Given the description of an element on the screen output the (x, y) to click on. 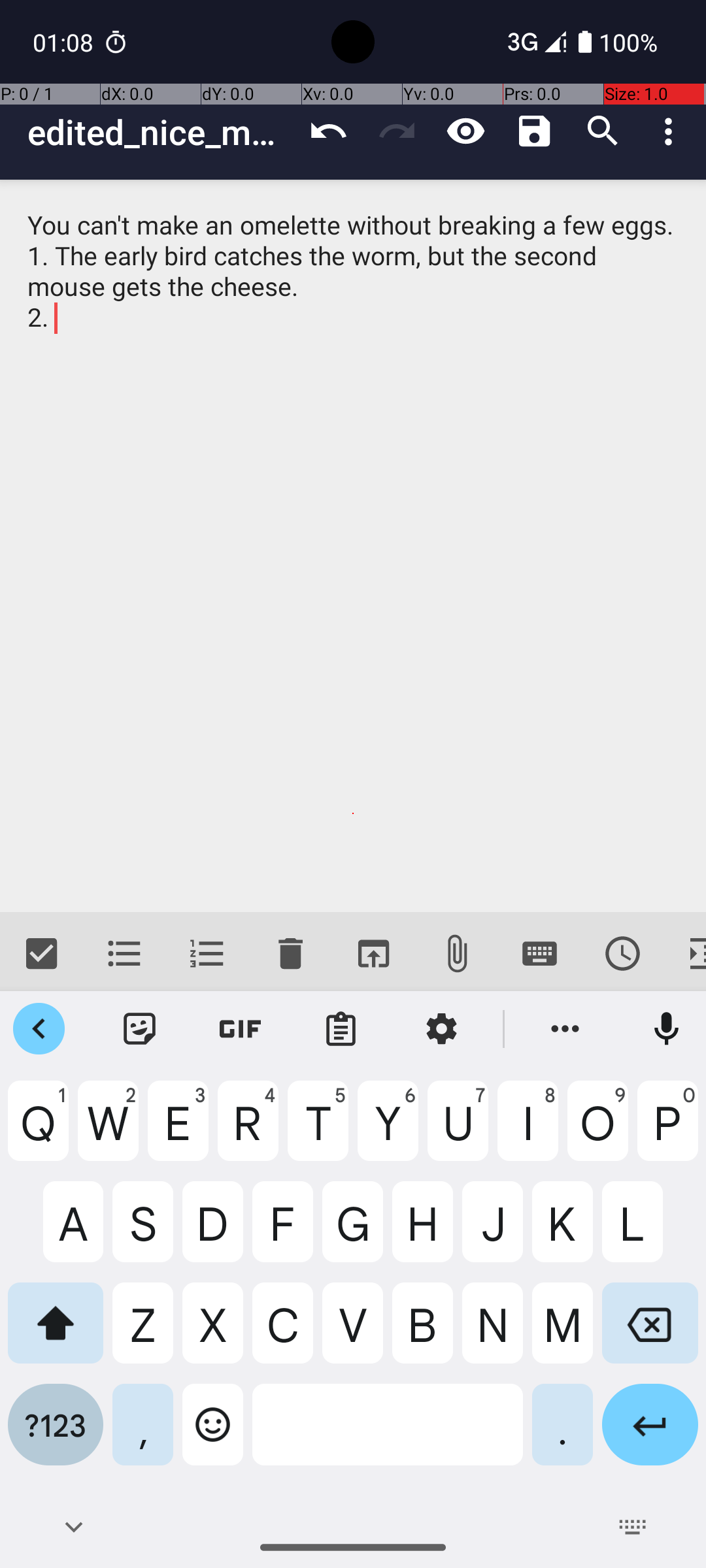
edited_nice_monkey Element type: android.widget.TextView (160, 131)
You can't make an omelette without breaking a few eggs.
1. The early bird catches the worm, but the second mouse gets the cheese.
2.  Element type: android.widget.EditText (353, 545)
Ordered list Element type: android.widget.ImageView (207, 953)
Indent Element type: android.widget.ImageView (685, 953)
01:08 Element type: android.widget.TextView (64, 41)
